Given the description of an element on the screen output the (x, y) to click on. 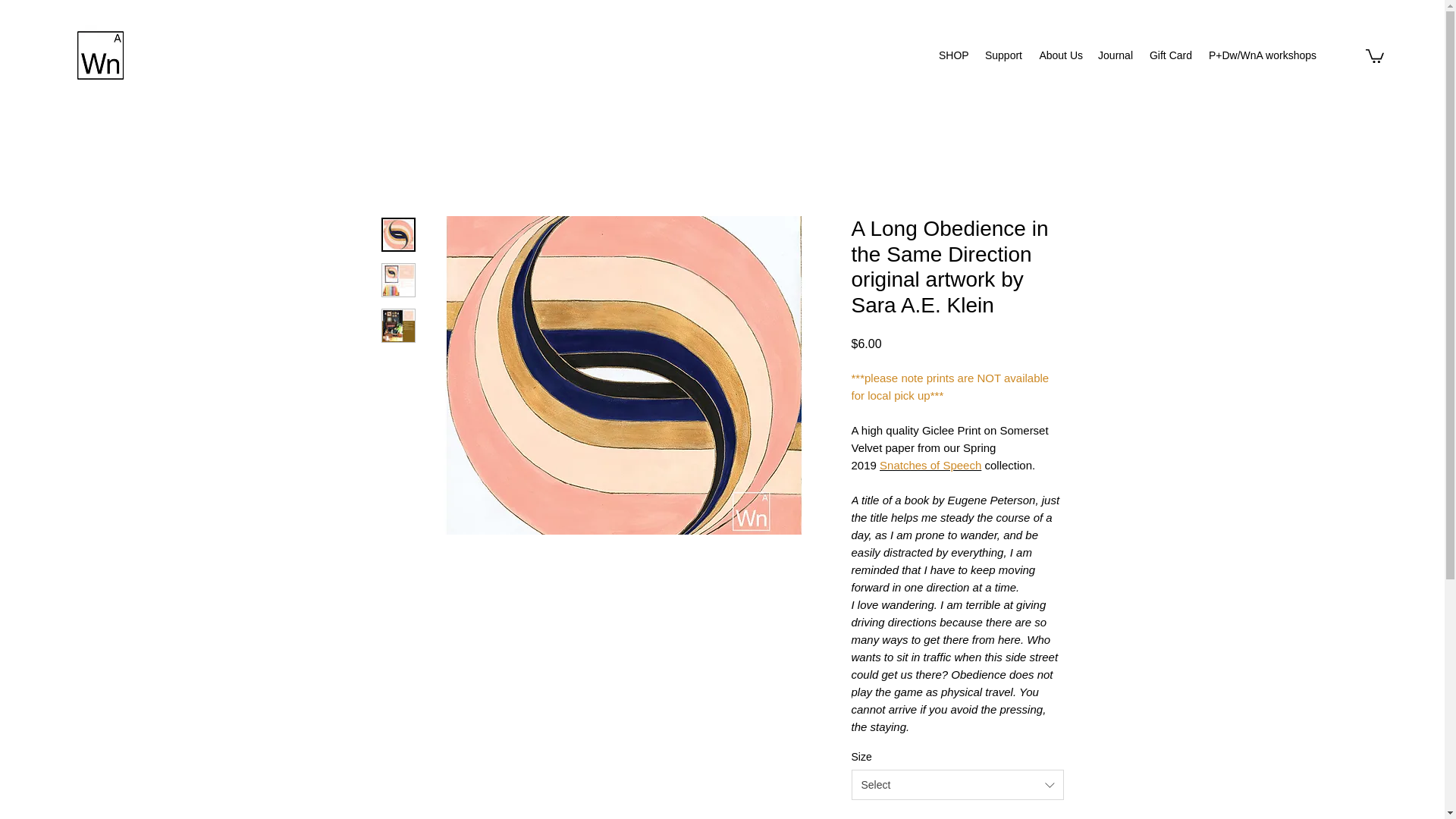
Support (1002, 54)
Select (956, 784)
SHOP (953, 54)
Journal (1115, 54)
About Us (1059, 54)
Gift Card (1169, 54)
Snatches of Speech (930, 464)
